Given the description of an element on the screen output the (x, y) to click on. 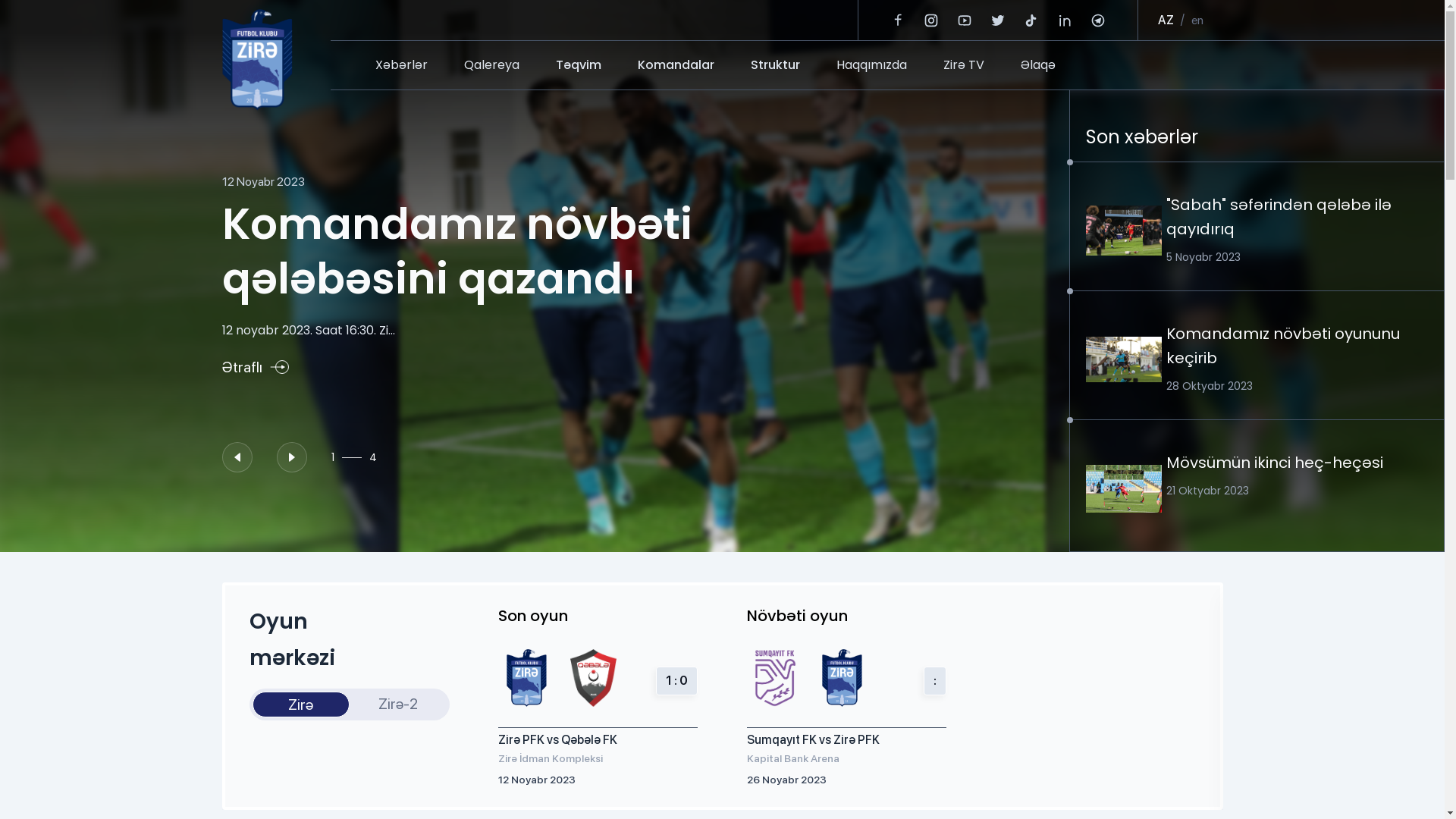
en Element type: text (1196, 20)
Qalereya Element type: text (491, 65)
AZ Element type: text (1165, 20)
AZ Element type: text (1165, 20)
en Element type: text (1196, 20)
